Given the description of an element on the screen output the (x, y) to click on. 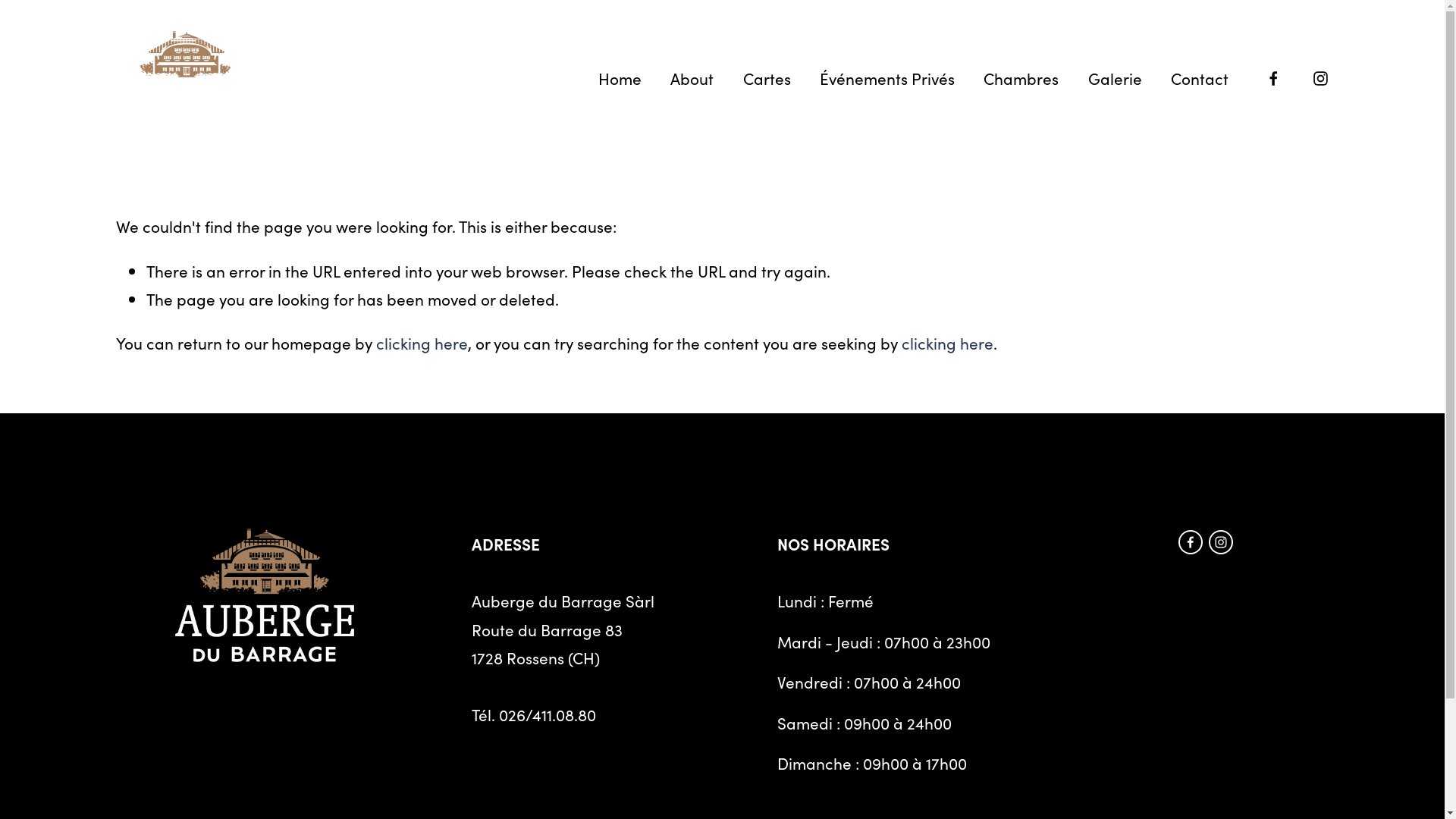
clicking here Element type: text (946, 342)
About Element type: text (691, 78)
Cartes Element type: text (766, 78)
Galerie Element type: text (1115, 78)
Chambres Element type: text (1020, 78)
Contact Element type: text (1199, 78)
clicking here Element type: text (421, 342)
Home Element type: text (619, 78)
